Given the description of an element on the screen output the (x, y) to click on. 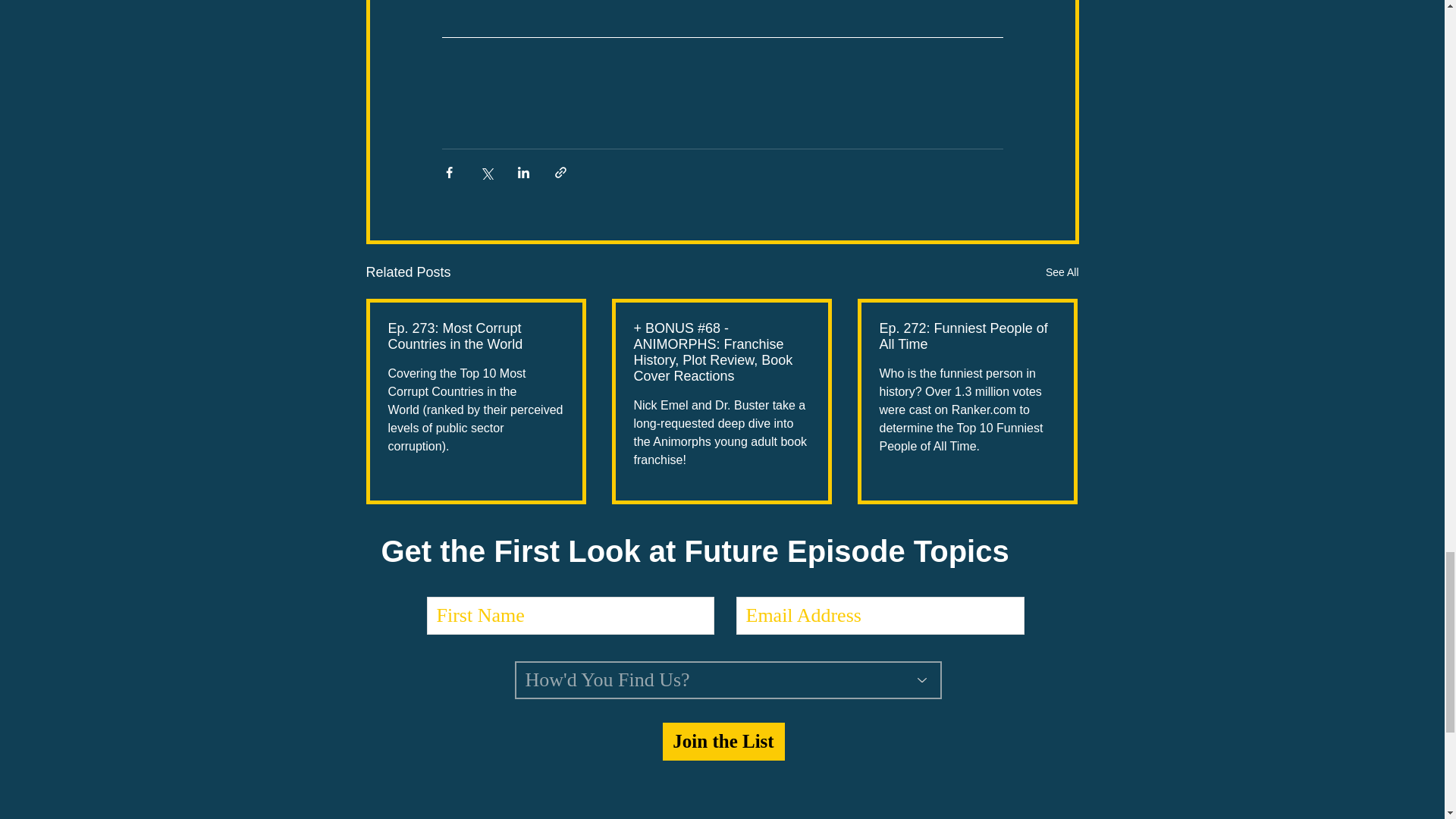
Ep. 272: Funniest People of All Time (967, 336)
See All (1061, 272)
Ep. 273: Most Corrupt Countries in the World (476, 336)
Join the List (723, 741)
